Given the description of an element on the screen output the (x, y) to click on. 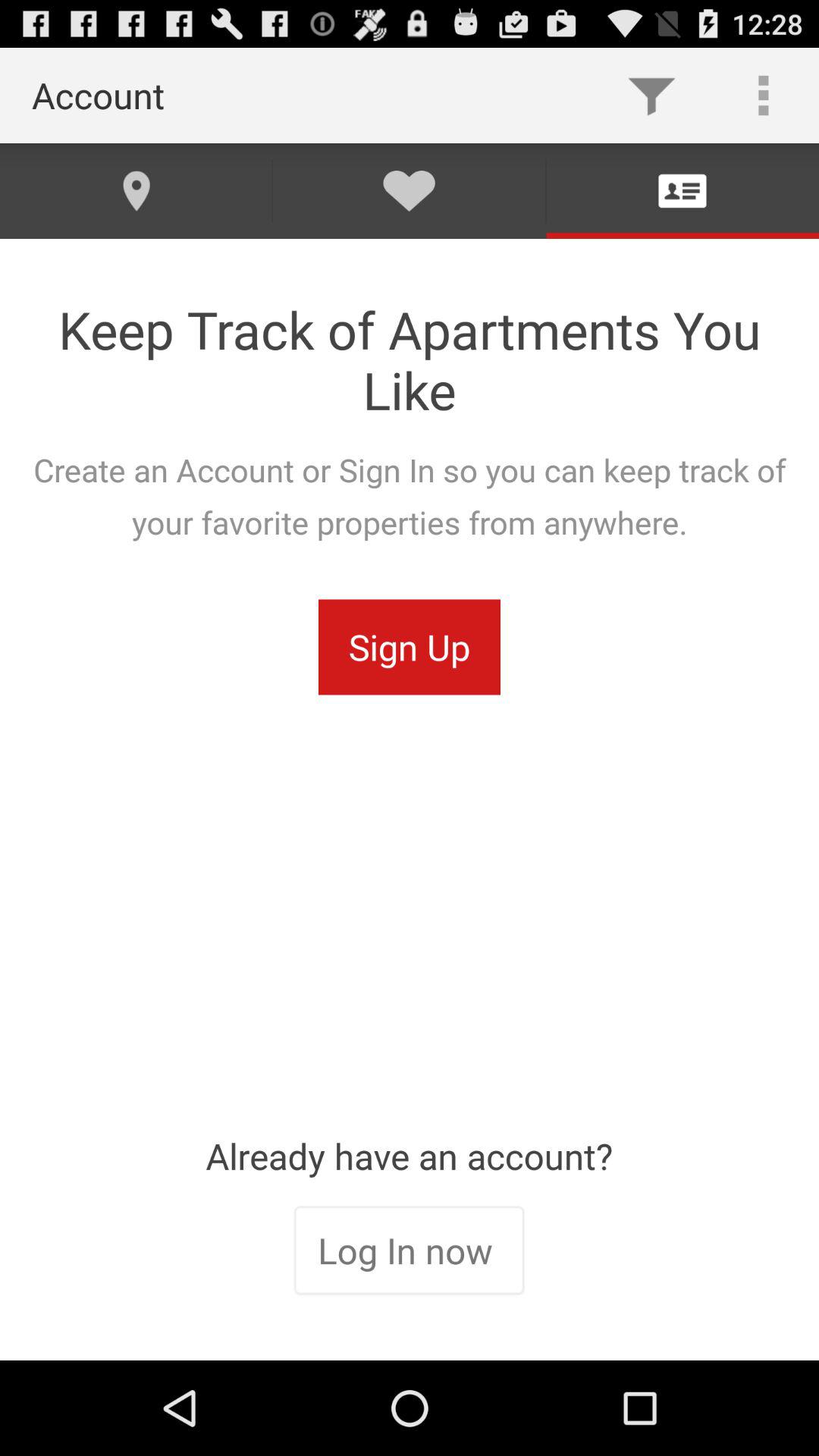
open the sign up button (409, 647)
